Given the description of an element on the screen output the (x, y) to click on. 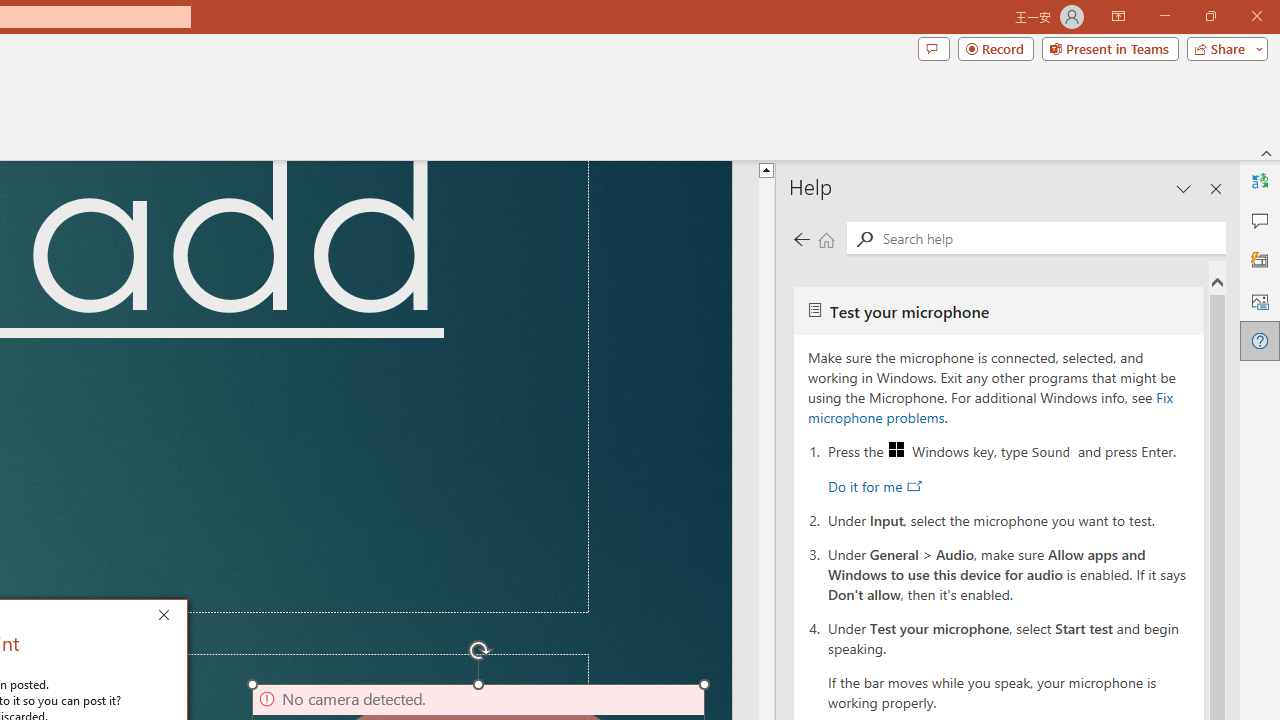
Fix microphone problems (989, 407)
Previous page (801, 238)
